Given the description of an element on the screen output the (x, y) to click on. 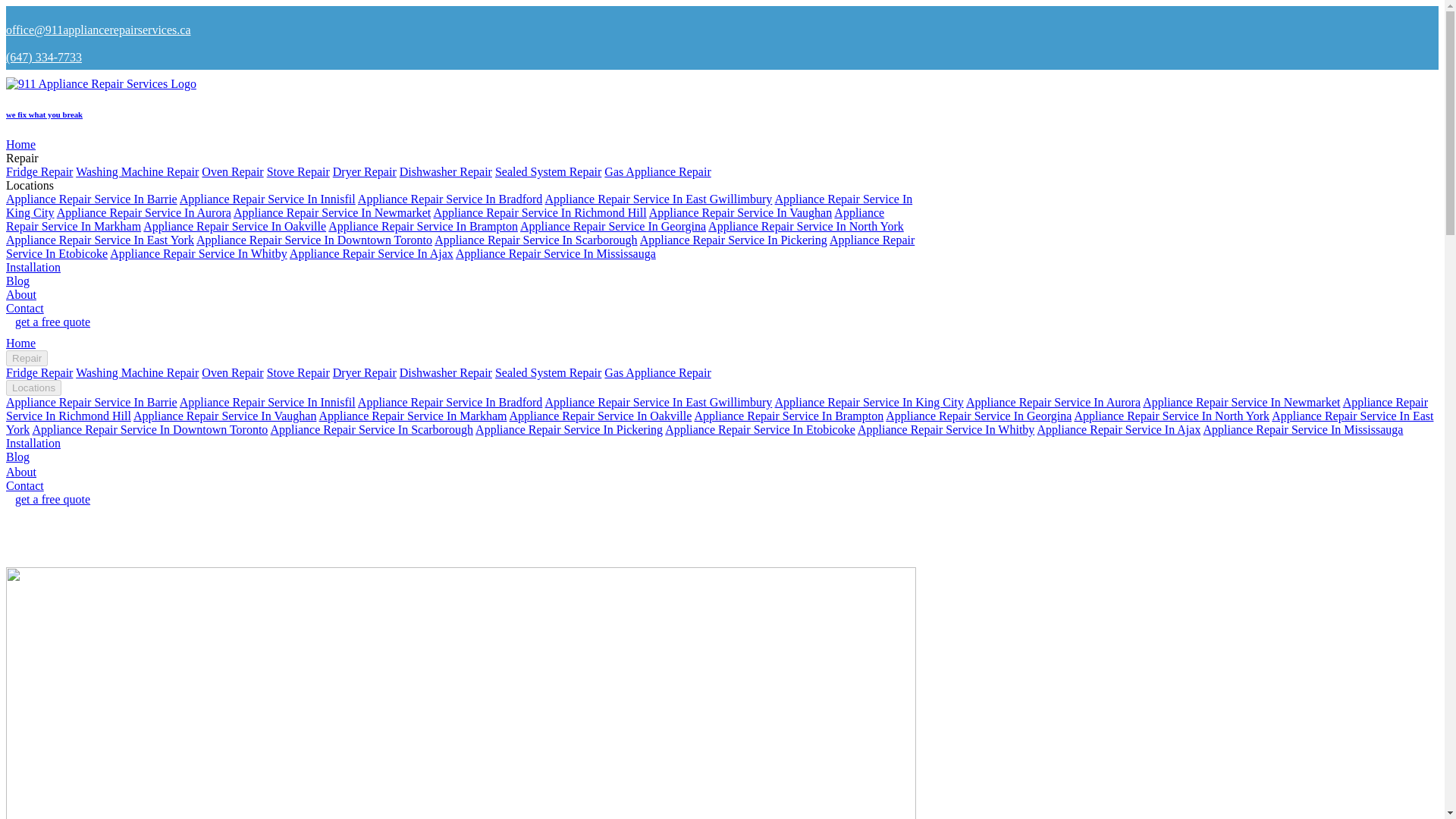
Appliance Repair Service In Richmond Hill (539, 212)
Appliance Repair Service In Mississauga (555, 253)
Appliance Repair Service In Downtown Toronto (314, 239)
About (20, 294)
Appliance Repair Service In Innisfil (267, 198)
Oven Repair (232, 171)
Washing Machine Repair (136, 171)
Appliance Repair Service In Scarborough (535, 239)
Home (19, 342)
Appliance Repair Service In Markham (444, 219)
